Given the description of an element on the screen output the (x, y) to click on. 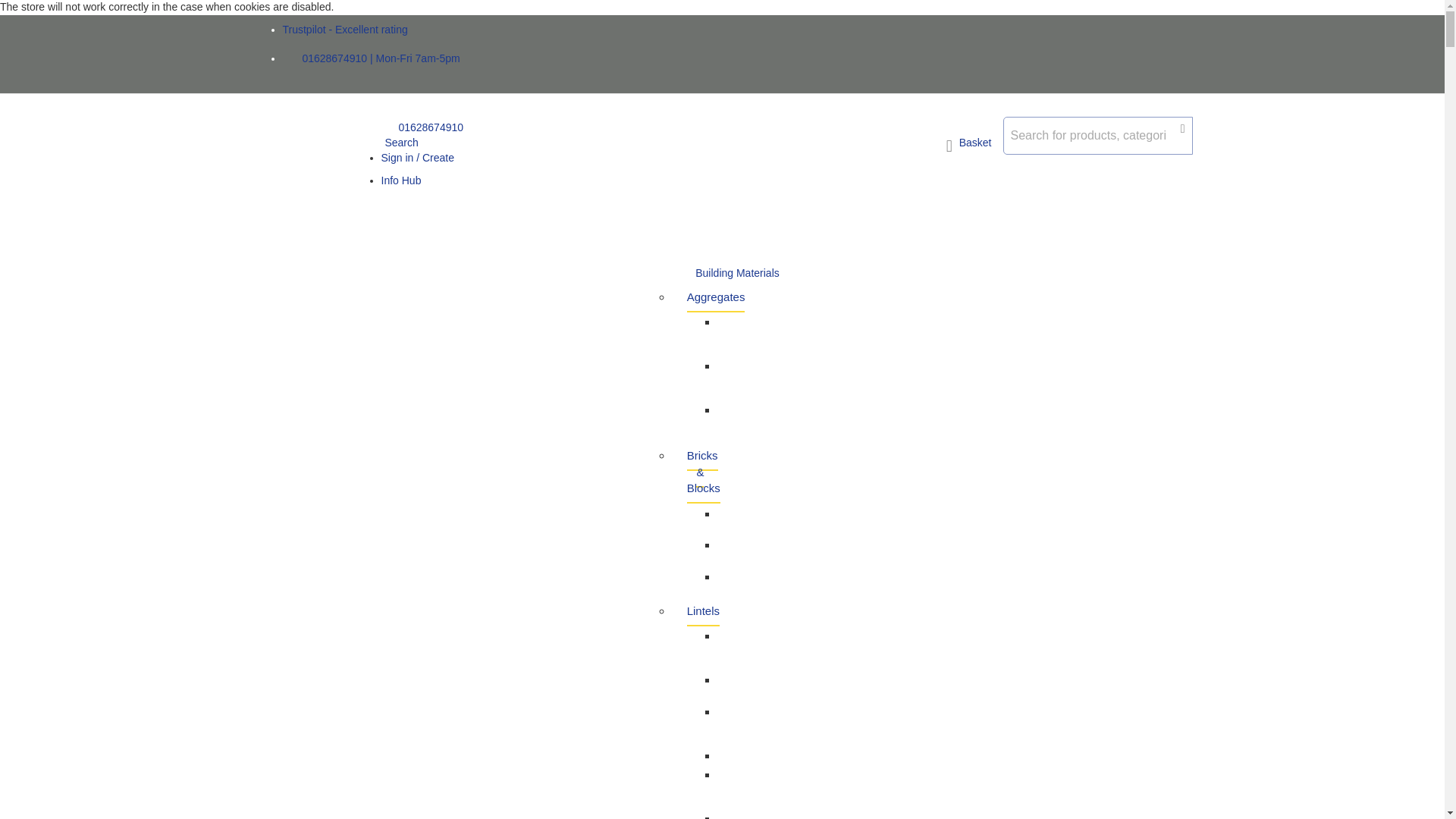
Search (398, 142)
Engineering Brick (747, 550)
Concrete Lintel (739, 811)
01628674910 (421, 127)
Building Materials (737, 273)
Concrete Blocks (739, 519)
Building Materials Nationwide (315, 174)
Info Hub (400, 180)
Lintels (703, 611)
Trustpilot - Excellent rating (344, 29)
